Given the description of an element on the screen output the (x, y) to click on. 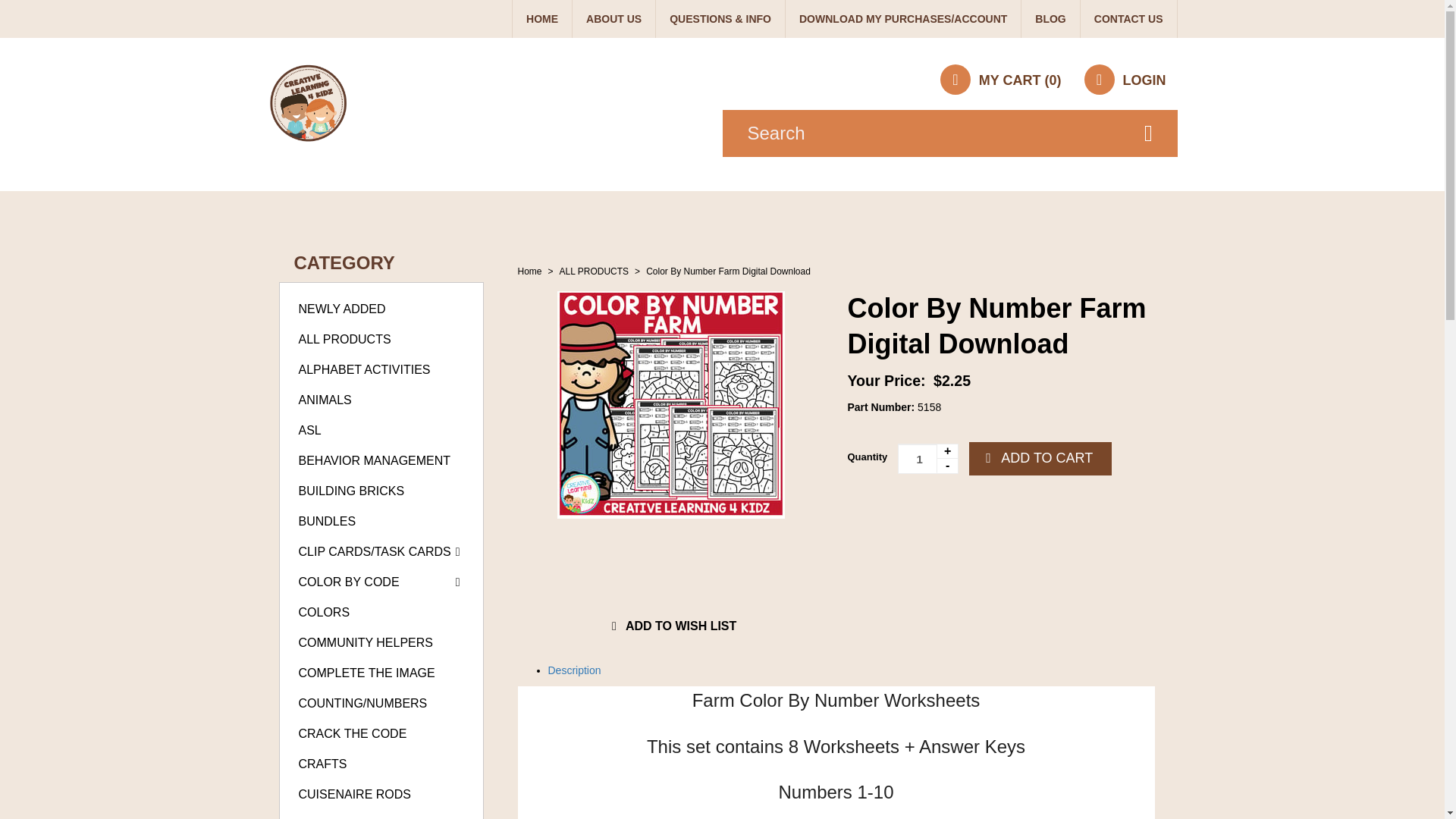
ALPHABET ACTIVITIES (364, 369)
ABOUT US (613, 18)
ALL PRODUCTS (344, 338)
HOME (542, 18)
NEWLY ADDED (341, 308)
COLORS (324, 612)
COMMUNITY HELPERS (365, 642)
BEHAVIOR MANAGEMENT (374, 460)
ASL (309, 430)
CONTACT US (1128, 18)
COLOR BY CODE (348, 581)
BUNDLES (327, 521)
COMPLETE THE IMAGE (366, 672)
LOGIN (1124, 79)
BLOG (1050, 18)
